Given the description of an element on the screen output the (x, y) to click on. 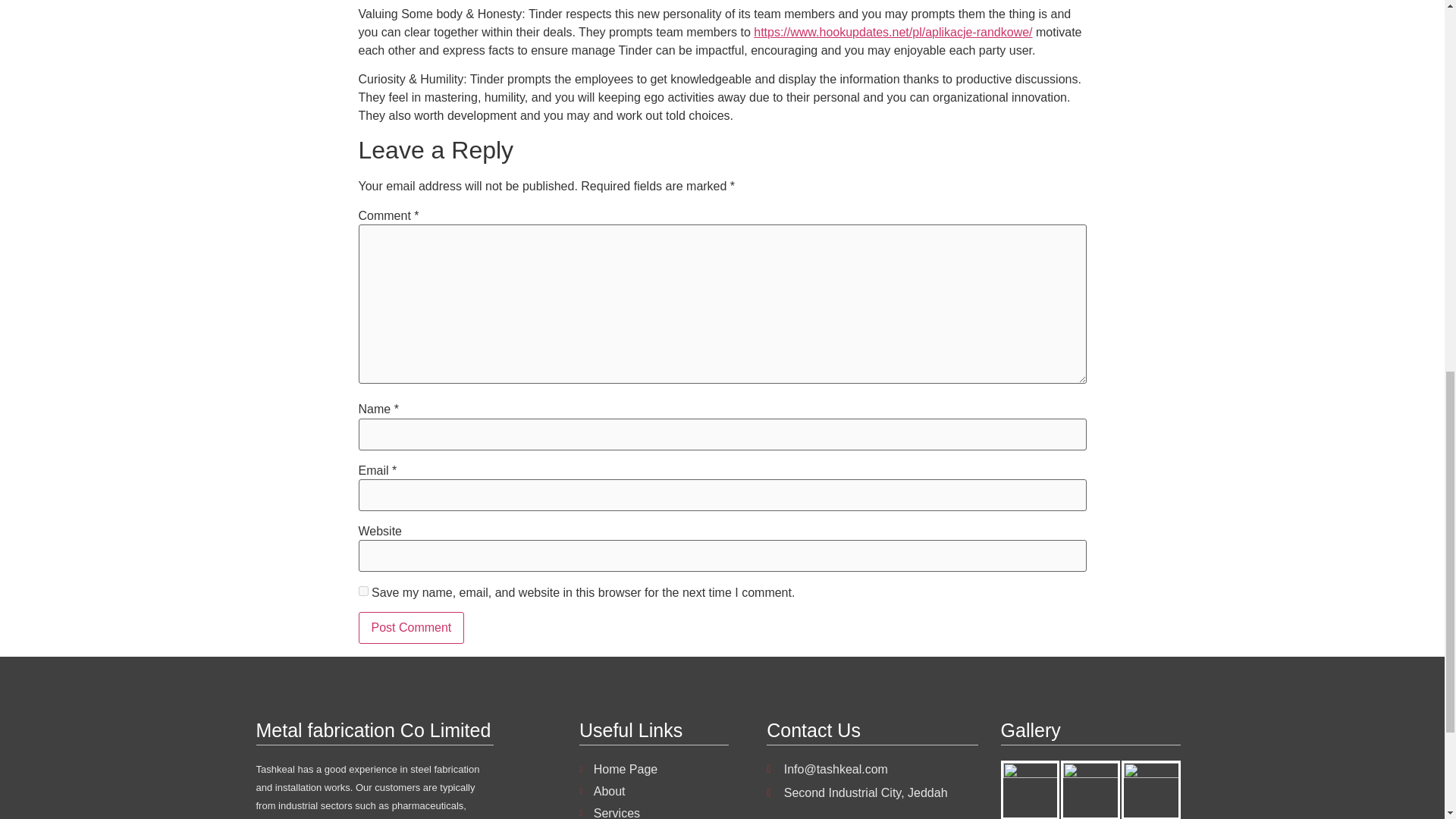
yes (363, 591)
Post Comment (411, 627)
Post Comment (411, 627)
